Given the description of an element on the screen output the (x, y) to click on. 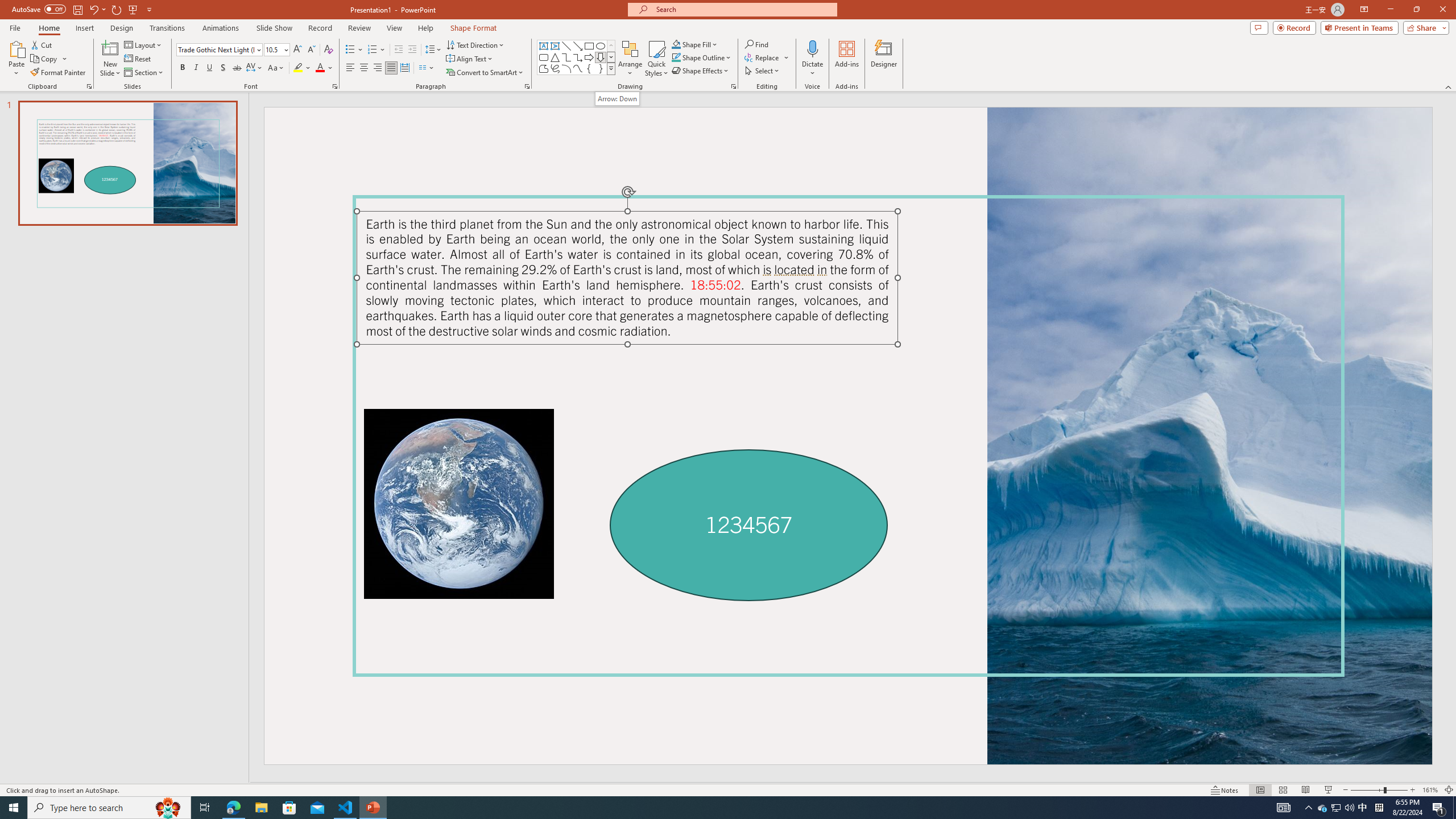
Shape Outline Teal, Accent 1 (675, 56)
